Given the description of an element on the screen output the (x, y) to click on. 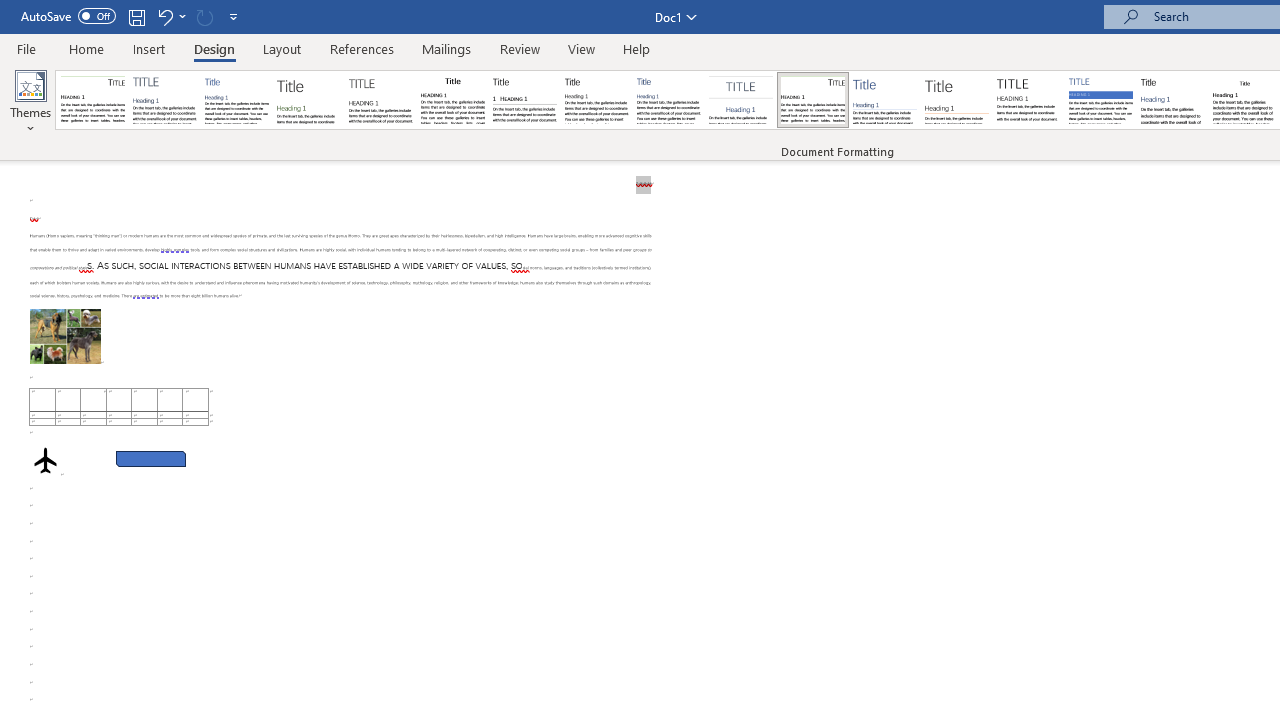
Can't Repeat (204, 15)
Basic (Simple) (236, 100)
Lines (Stylish) (957, 100)
Black & White (Numbered) (524, 100)
Black & White (Classic) (452, 100)
Black & White (Capitalized) (381, 100)
Basic (Stylish) (308, 100)
Lines (Distinctive) (812, 100)
Document (93, 100)
